Given the description of an element on the screen output the (x, y) to click on. 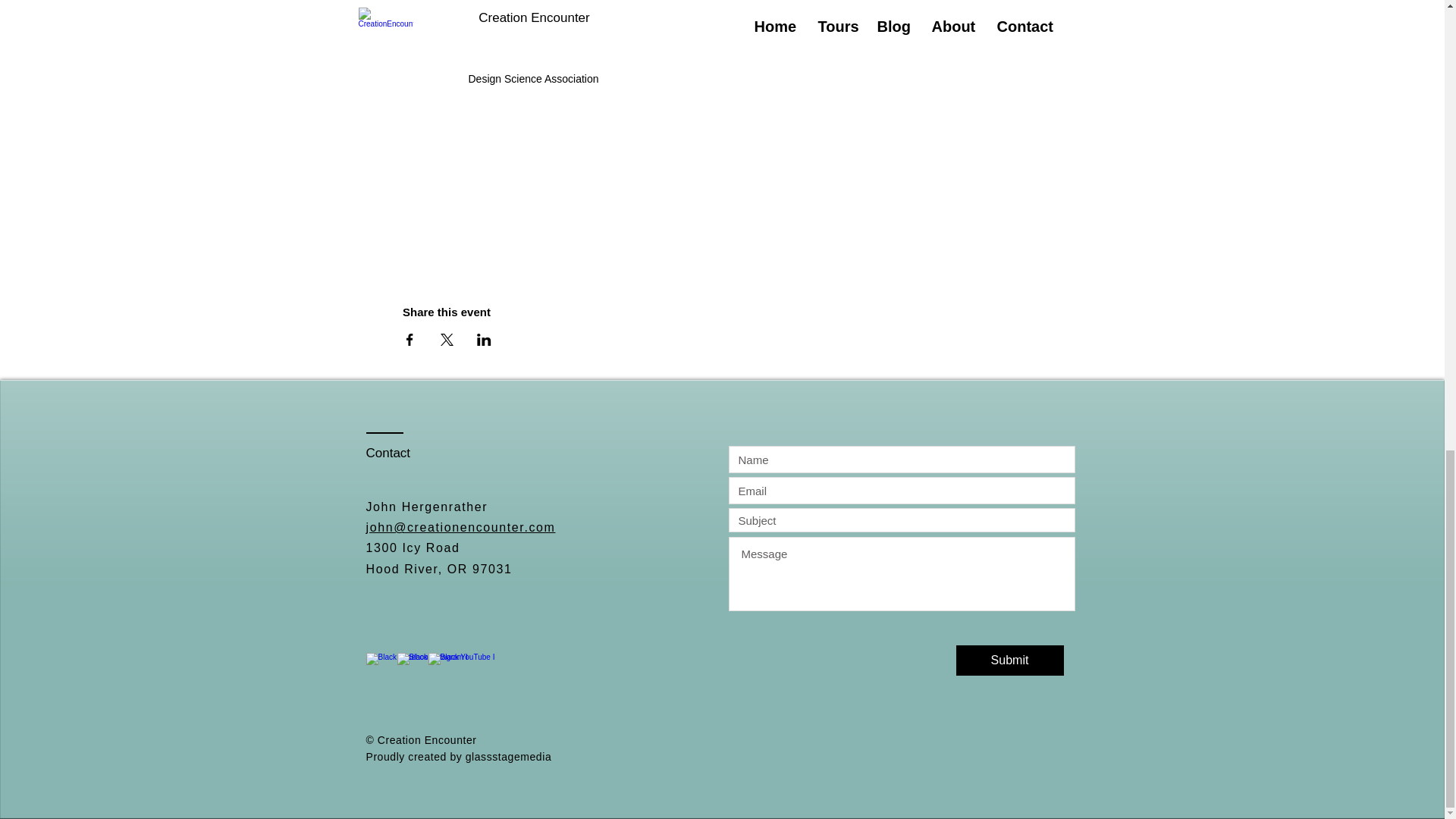
Submit (1008, 660)
